Given the description of an element on the screen output the (x, y) to click on. 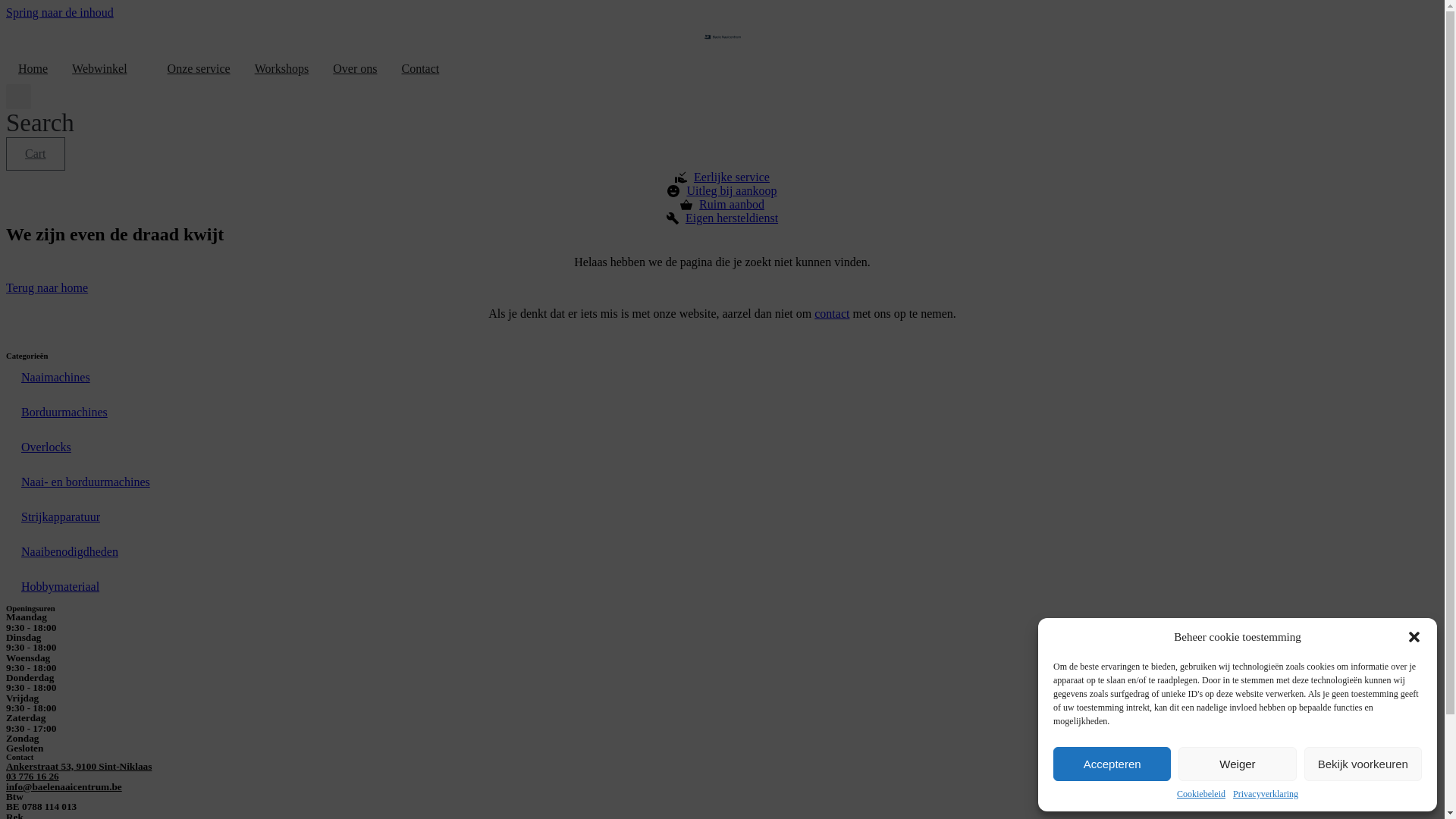
Spring naar de inhoud Element type: text (59, 12)
Privacyverklaring Element type: text (1265, 794)
Webwinkel Element type: text (99, 68)
contact Element type: text (831, 313)
Cart Element type: text (35, 153)
Home Element type: text (32, 68)
Terug naar home Element type: text (46, 287)
Contact Element type: text (420, 68)
Over ons Element type: text (354, 68)
Bekijk voorkeuren Element type: text (1362, 763)
Weiger Element type: text (1236, 763)
Eerlijke service Element type: text (721, 177)
Overlocks Element type: text (722, 446)
Naaibenodigdheden Element type: text (722, 551)
Accepteren Element type: text (1111, 763)
Ruim aanbod Element type: text (722, 204)
Ankerstraat 53, 9100 Sint-Niklaas Element type: text (78, 765)
Workshops Element type: text (281, 68)
info@baelenaaicentrum.be Element type: text (64, 786)
Uitleg bij aankoop Element type: text (721, 190)
Naai- en borduurmachines Element type: text (722, 481)
Cookiebeleid Element type: text (1200, 794)
Eigen hersteldienst Element type: text (722, 218)
Borduurmachines Element type: text (722, 412)
Onze service Element type: text (198, 68)
03 776 16 26 Element type: text (32, 775)
Naaimachines Element type: text (722, 377)
Hobbymateriaal Element type: text (722, 586)
Strijkapparatuur Element type: text (722, 516)
